Given the description of an element on the screen output the (x, y) to click on. 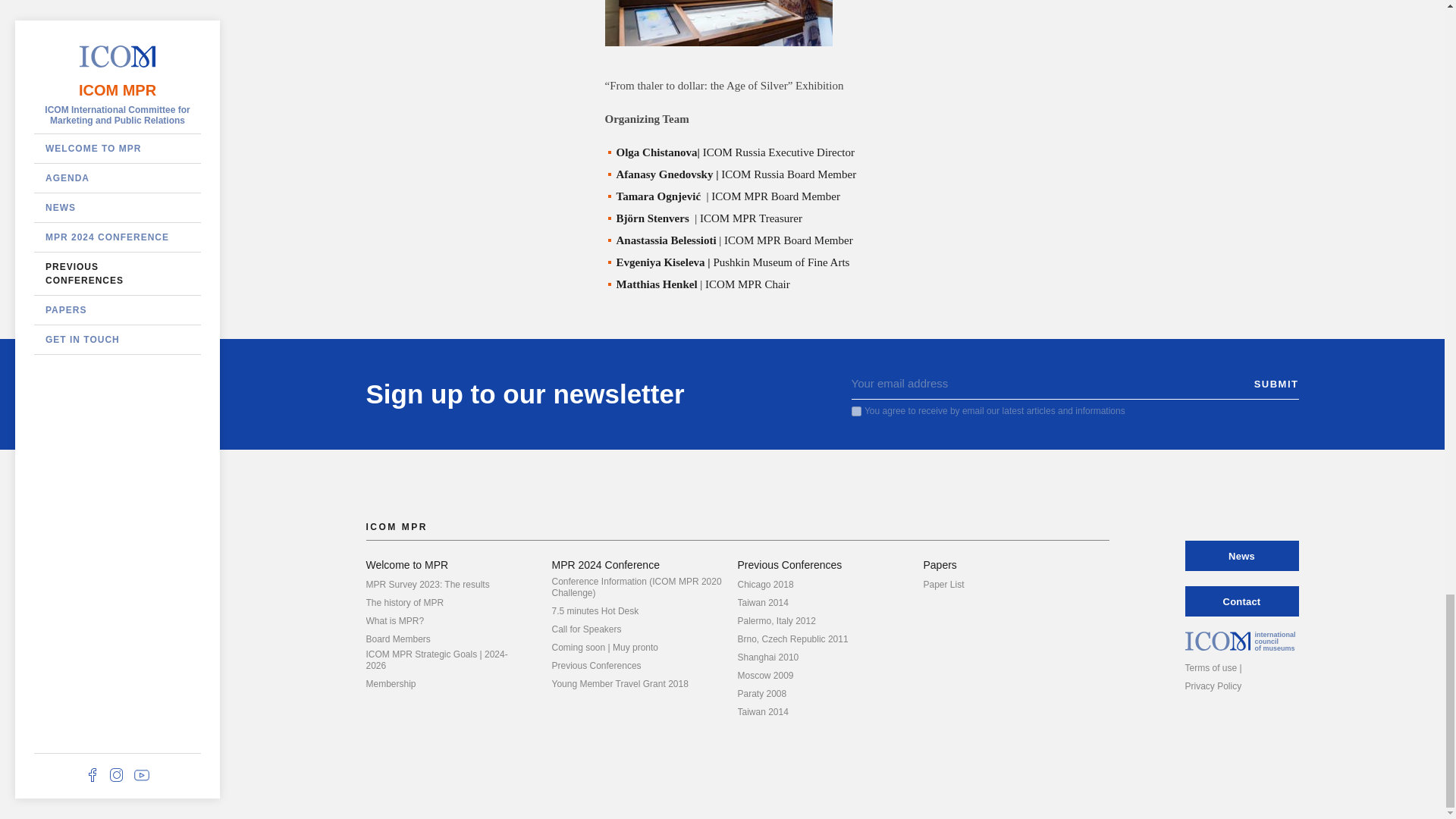
Submit (1275, 384)
